Given the description of an element on the screen output the (x, y) to click on. 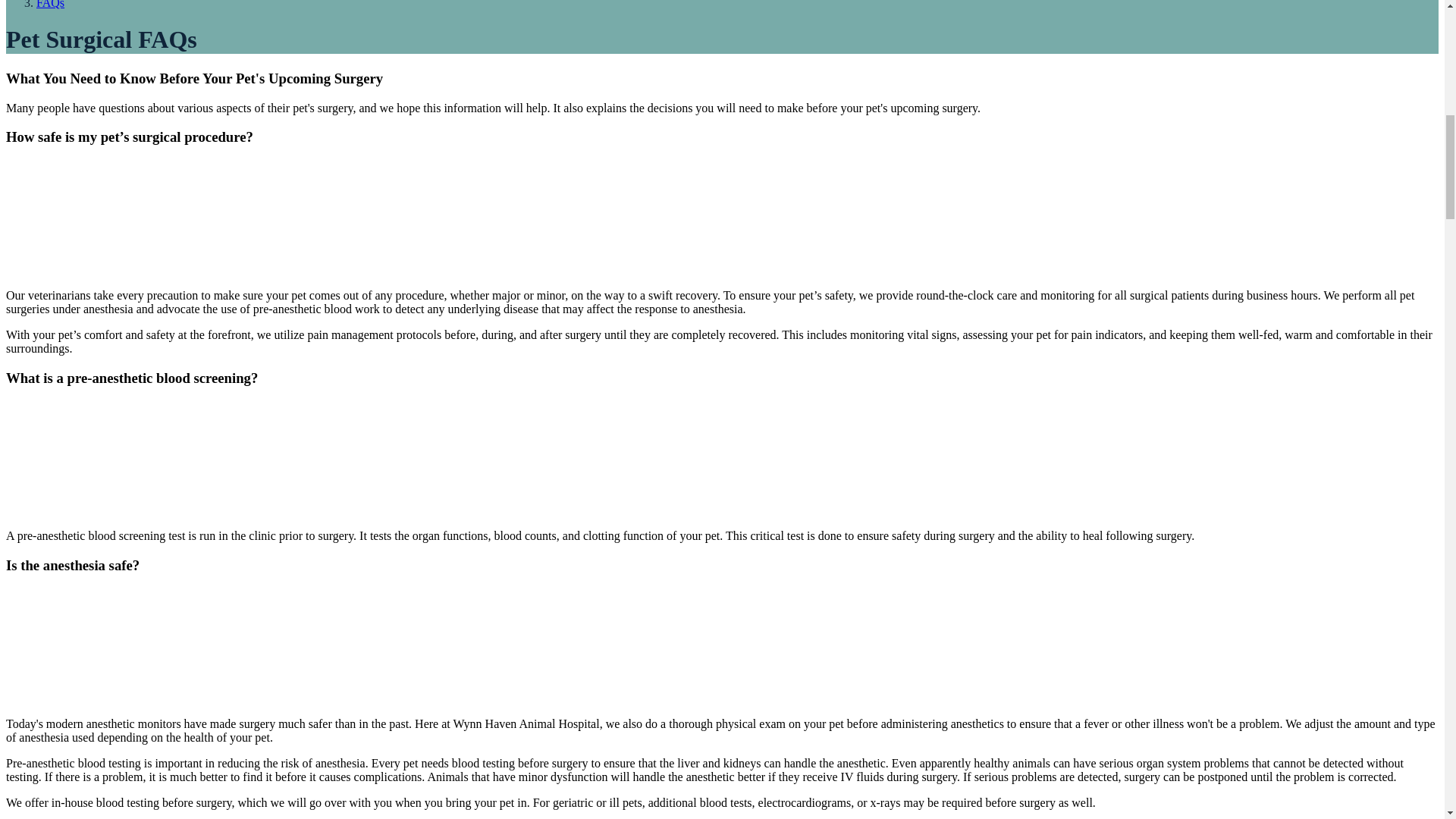
FAQs (50, 4)
